Given the description of an element on the screen output the (x, y) to click on. 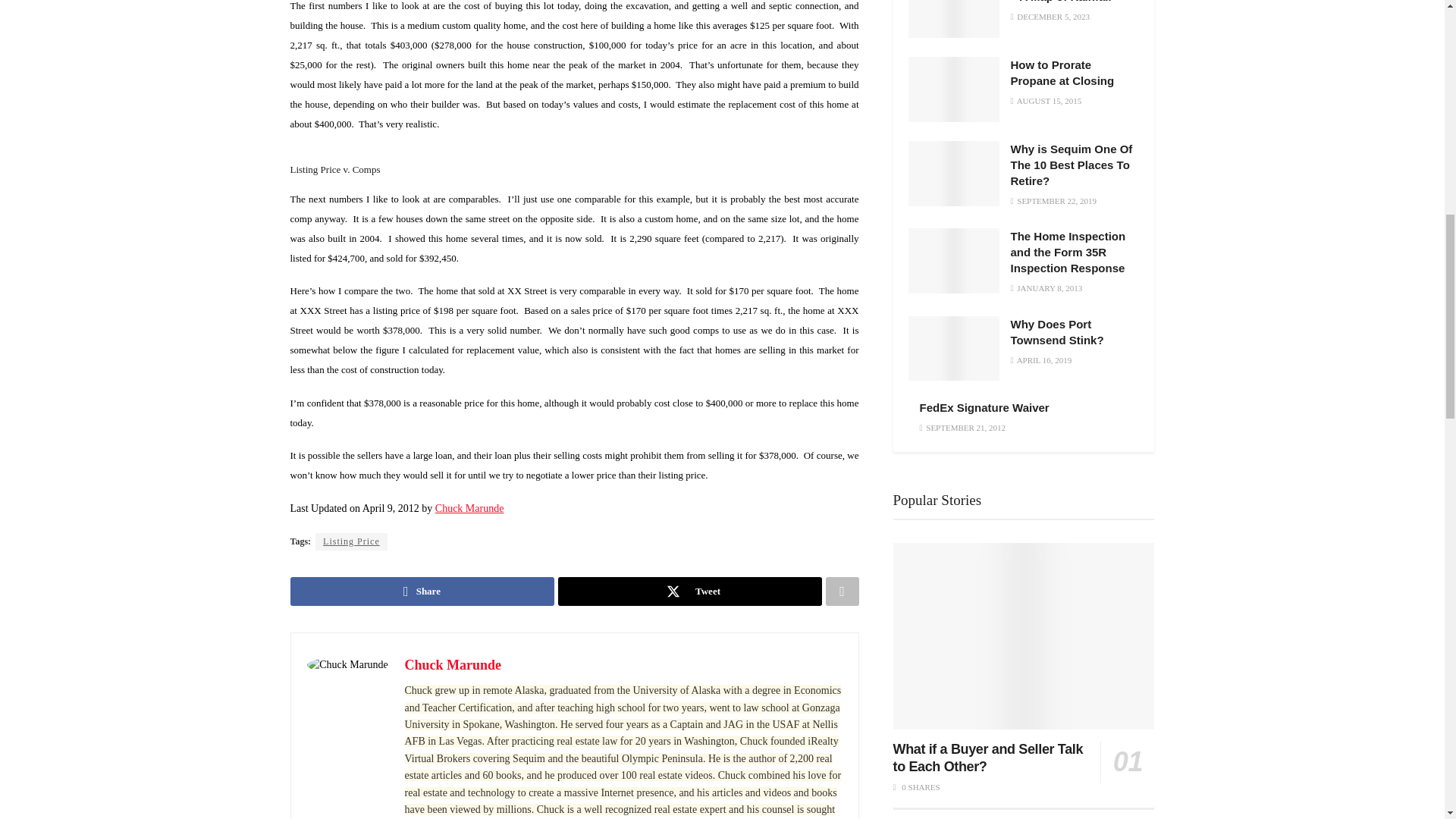
Listing Price (351, 541)
Chuck Marunde (453, 664)
Share (421, 591)
Tweet (689, 591)
Chuck Marunde (469, 508)
